Given the description of an element on the screen output the (x, y) to click on. 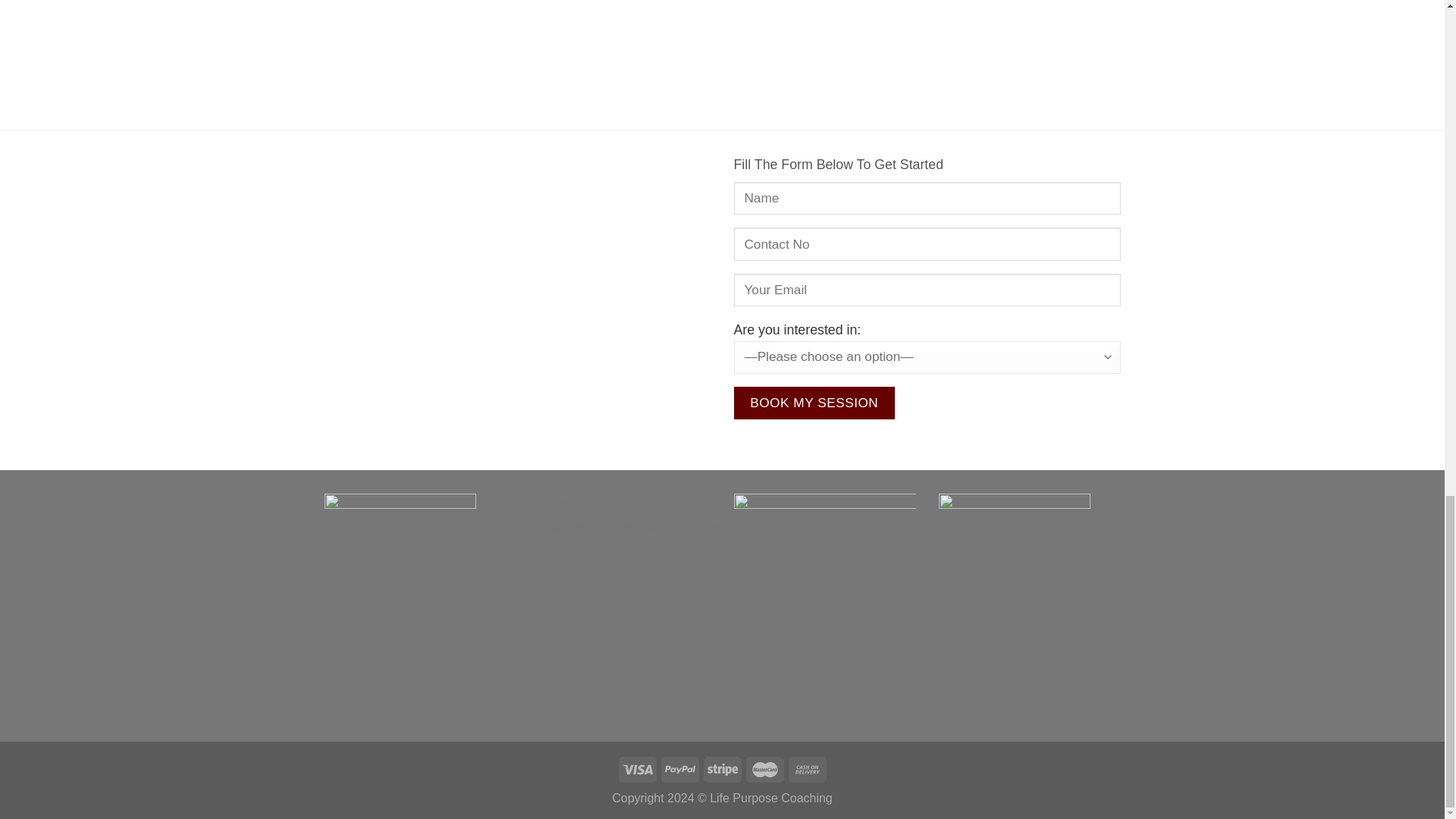
Book my Session (814, 402)
Book my Session (814, 402)
